Given the description of an element on the screen output the (x, y) to click on. 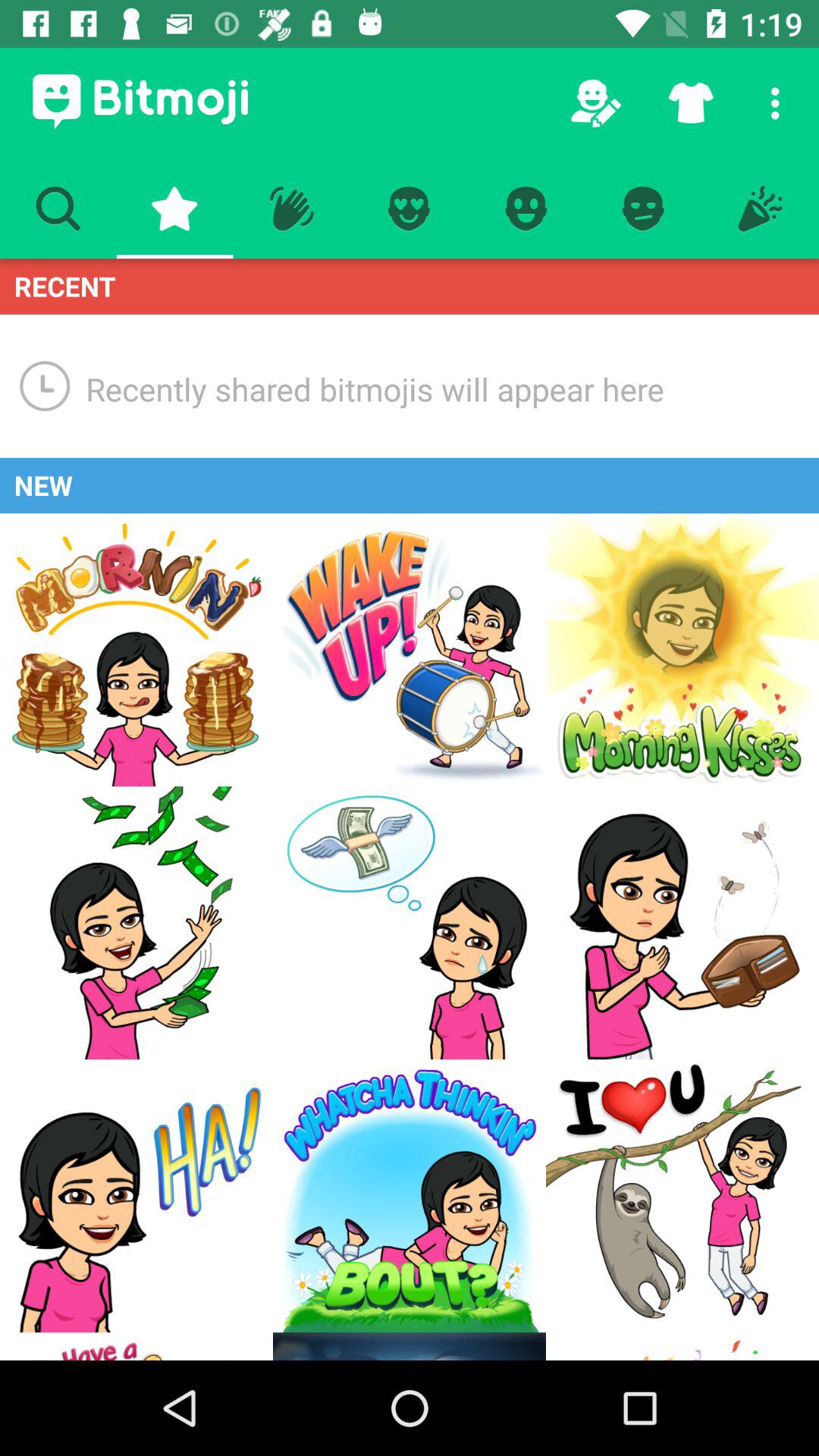
emoji of a smiling girl (136, 922)
